Given the description of an element on the screen output the (x, y) to click on. 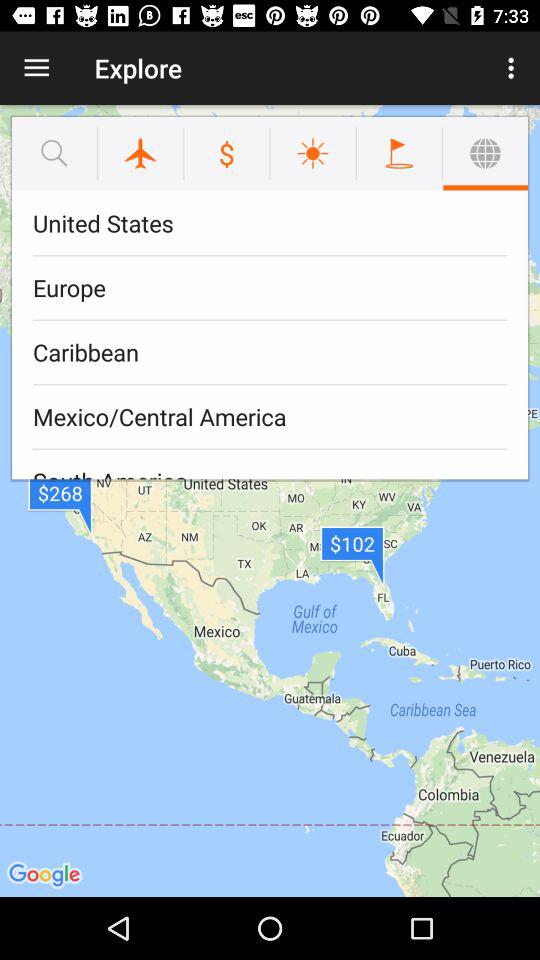
turn off the icon next to the explore icon (513, 67)
